Given the description of an element on the screen output the (x, y) to click on. 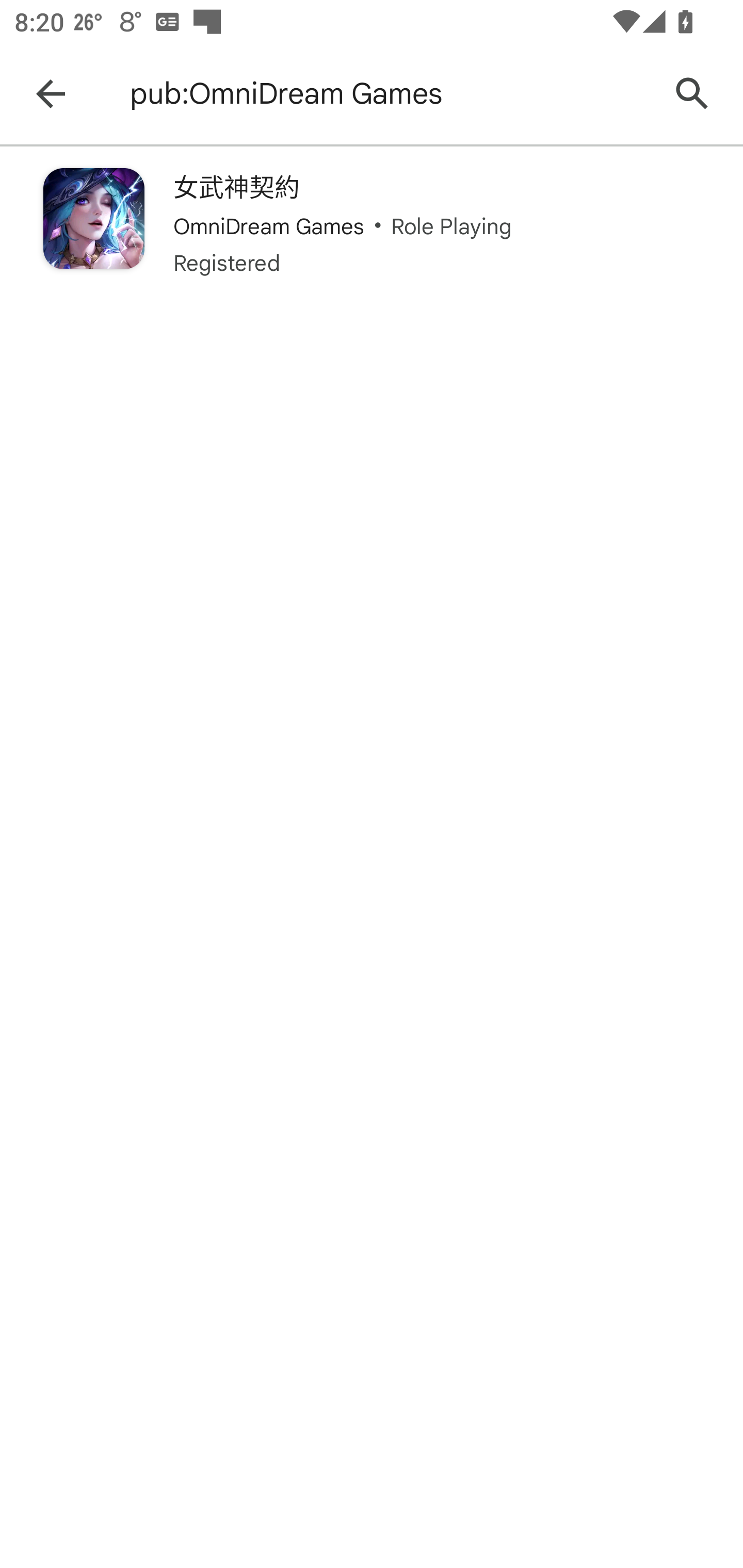
pub:OmniDream Games (389, 93)
Navigate up (50, 93)
Search Google Play (692, 93)
女武神契約
OmniDream Games
Role Playing
Registered
 (371, 223)
